Given the description of an element on the screen output the (x, y) to click on. 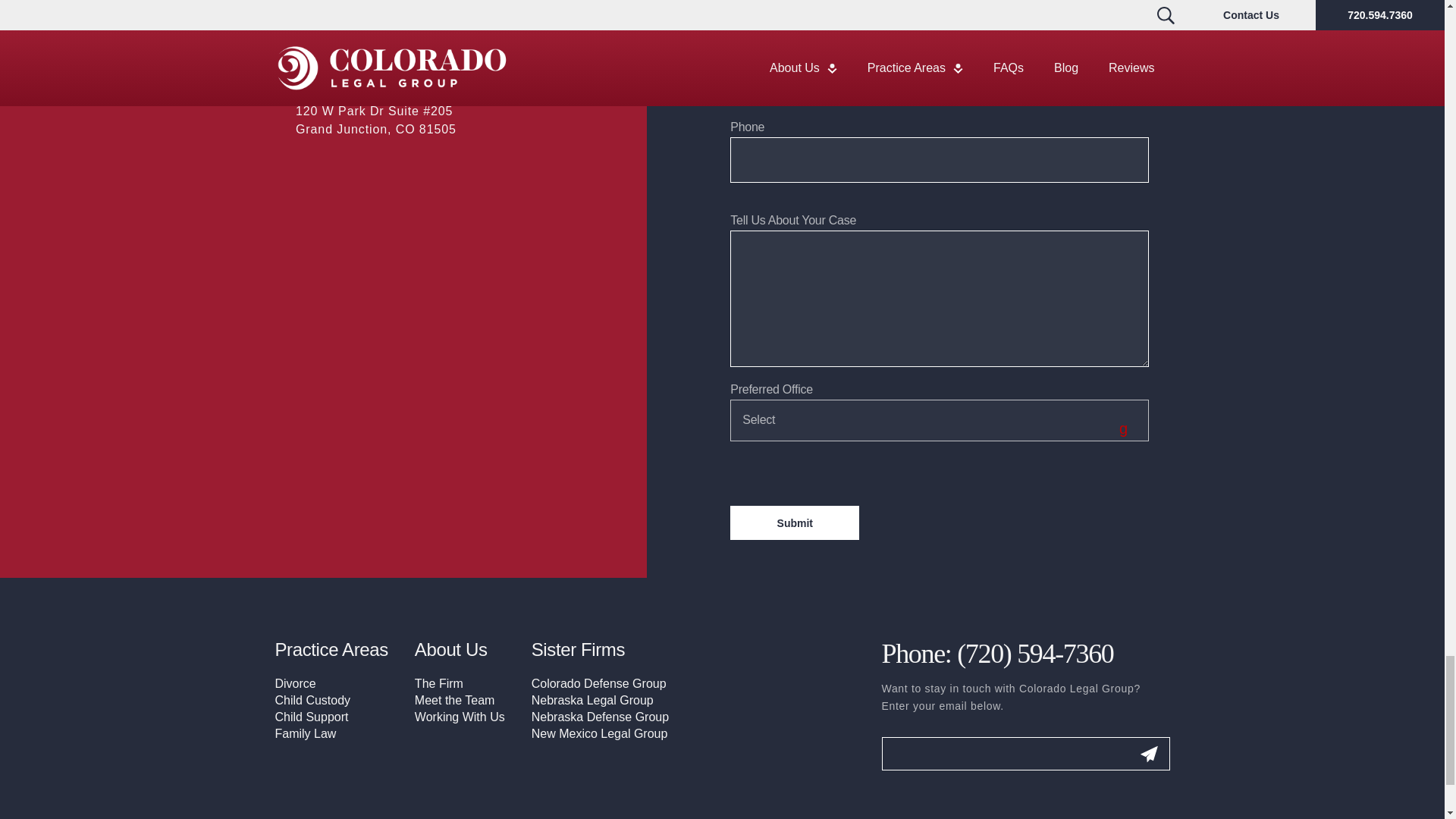
Submit (1148, 754)
Submit (794, 522)
